Given the description of an element on the screen output the (x, y) to click on. 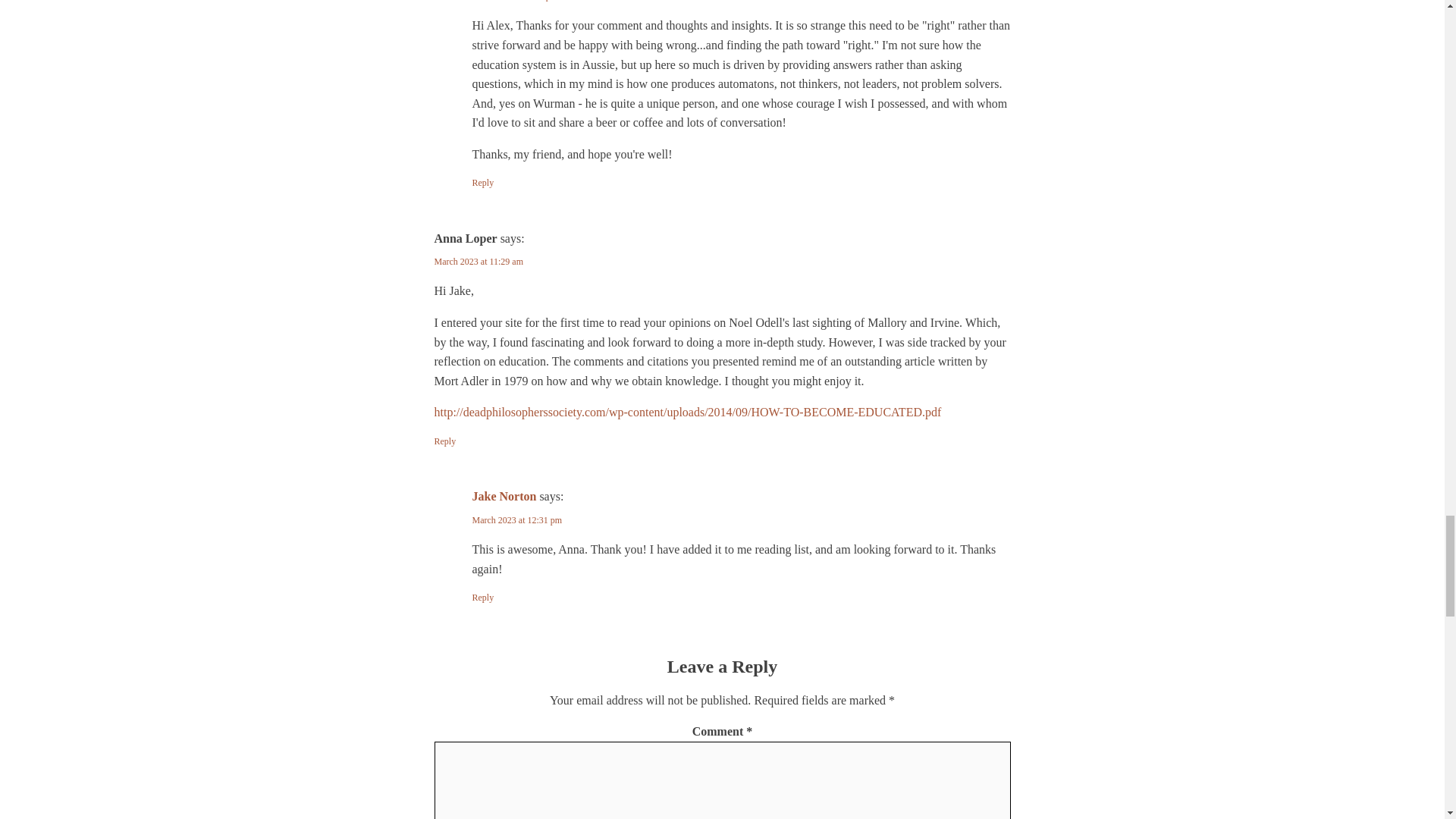
Jake Norton (503, 495)
March 2023 at 7:17 pm (514, 0)
Reply (444, 441)
Reply (482, 183)
March 2023 at 11:29 am (477, 261)
